Given the description of an element on the screen output the (x, y) to click on. 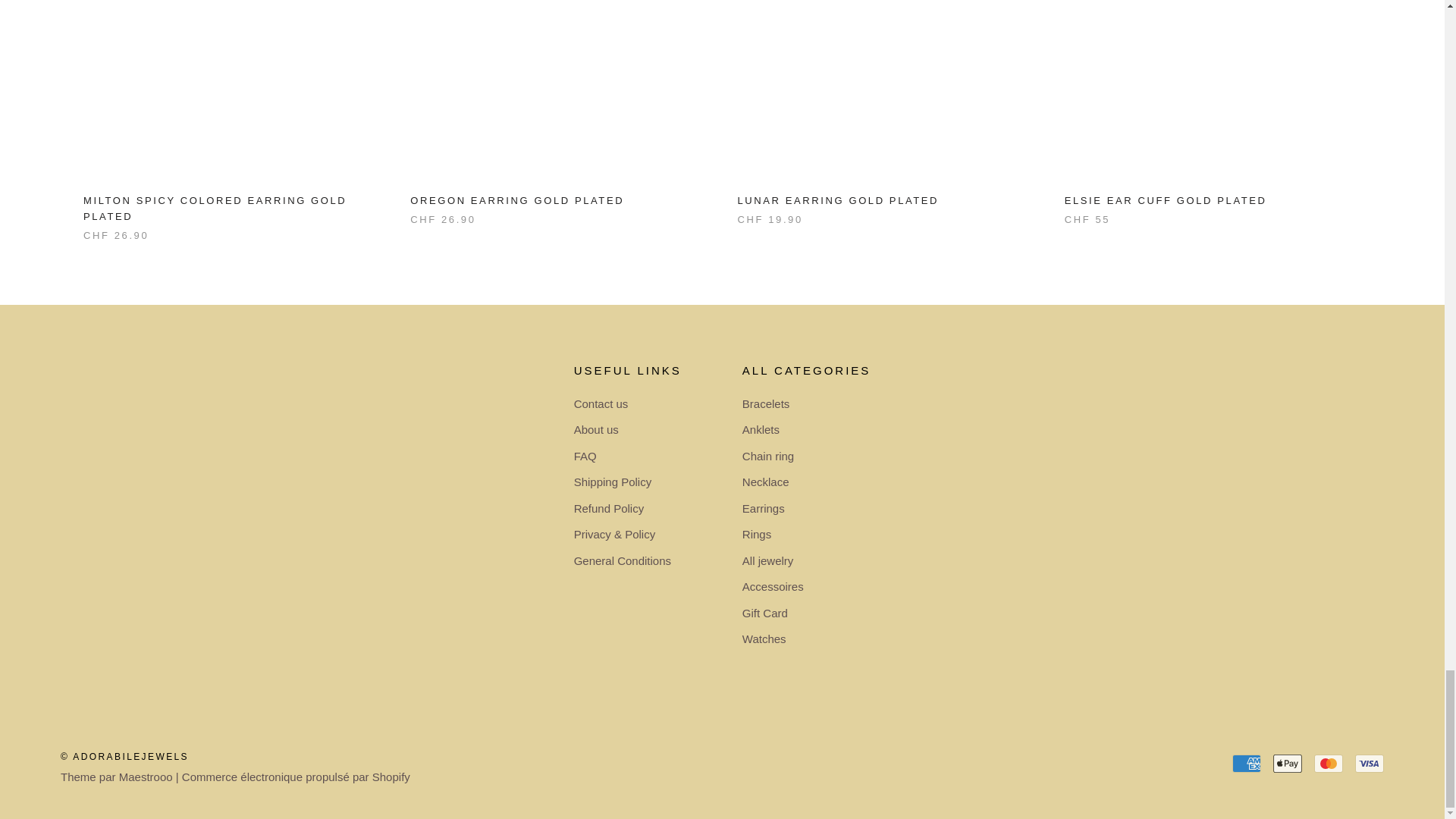
Mastercard (1328, 763)
American Express (1245, 763)
Visa (1369, 763)
Apple Pay (1286, 763)
